Given the description of an element on the screen output the (x, y) to click on. 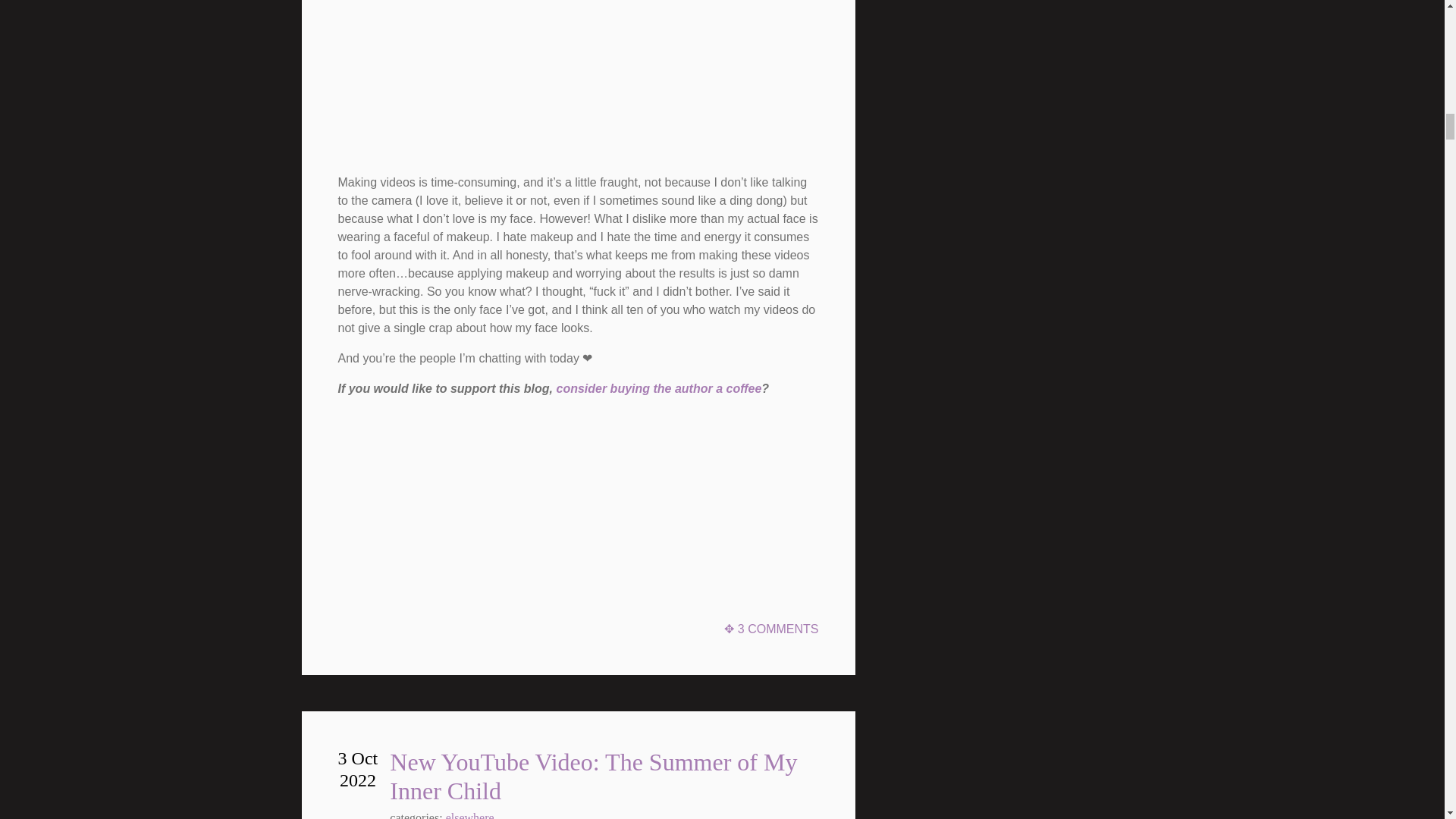
Patreon Widget (451, 497)
YouTube video player (549, 78)
